Given the description of an element on the screen output the (x, y) to click on. 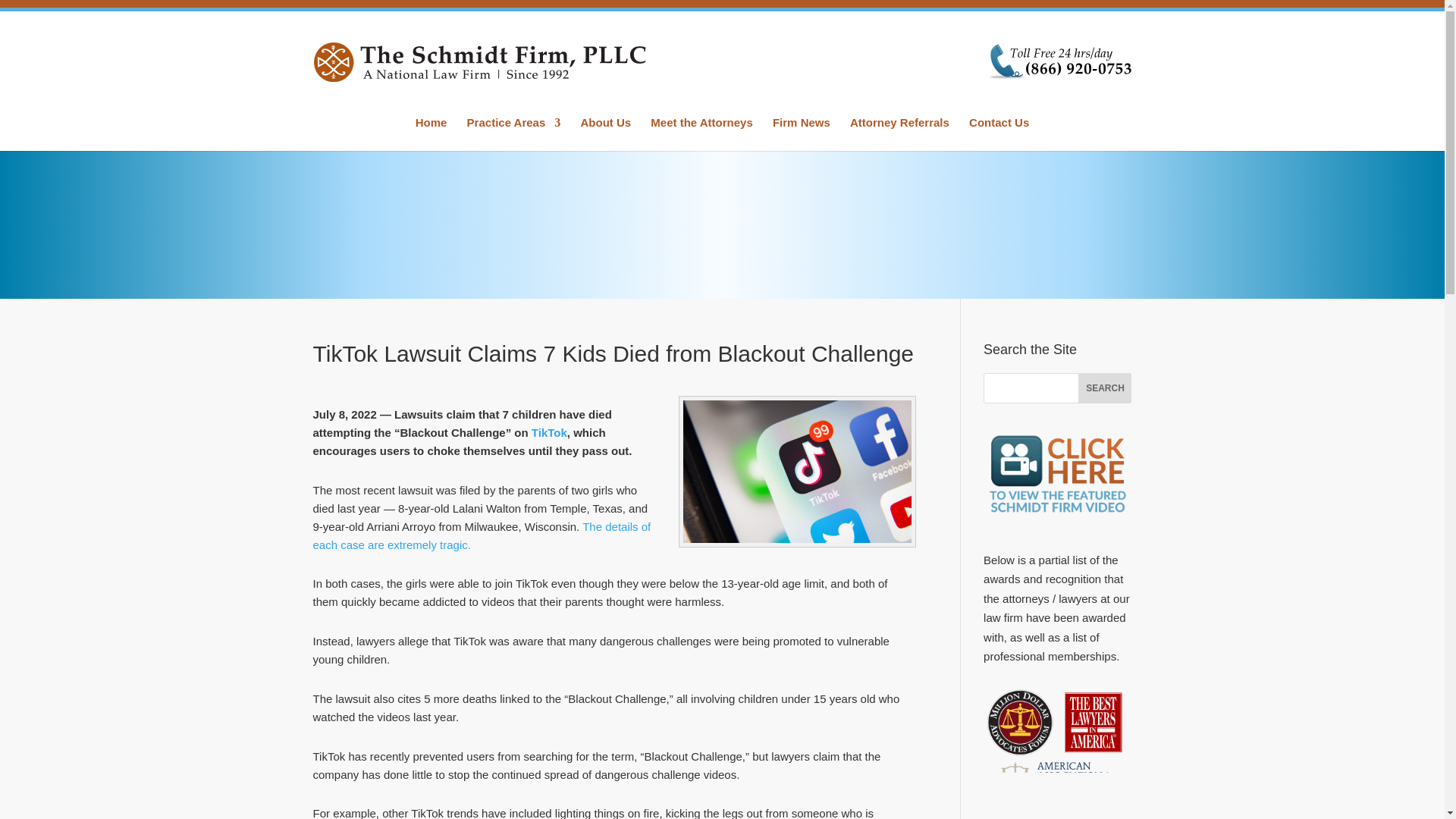
Practice Areas (513, 133)
The details of each case are extremely tragic. (481, 535)
Firm News (801, 133)
Search (1104, 388)
Home (430, 133)
Contact Us (999, 133)
Search (1104, 388)
Attorney Referrals (899, 133)
About Us (604, 133)
TikTok (549, 431)
